Given the description of an element on the screen output the (x, y) to click on. 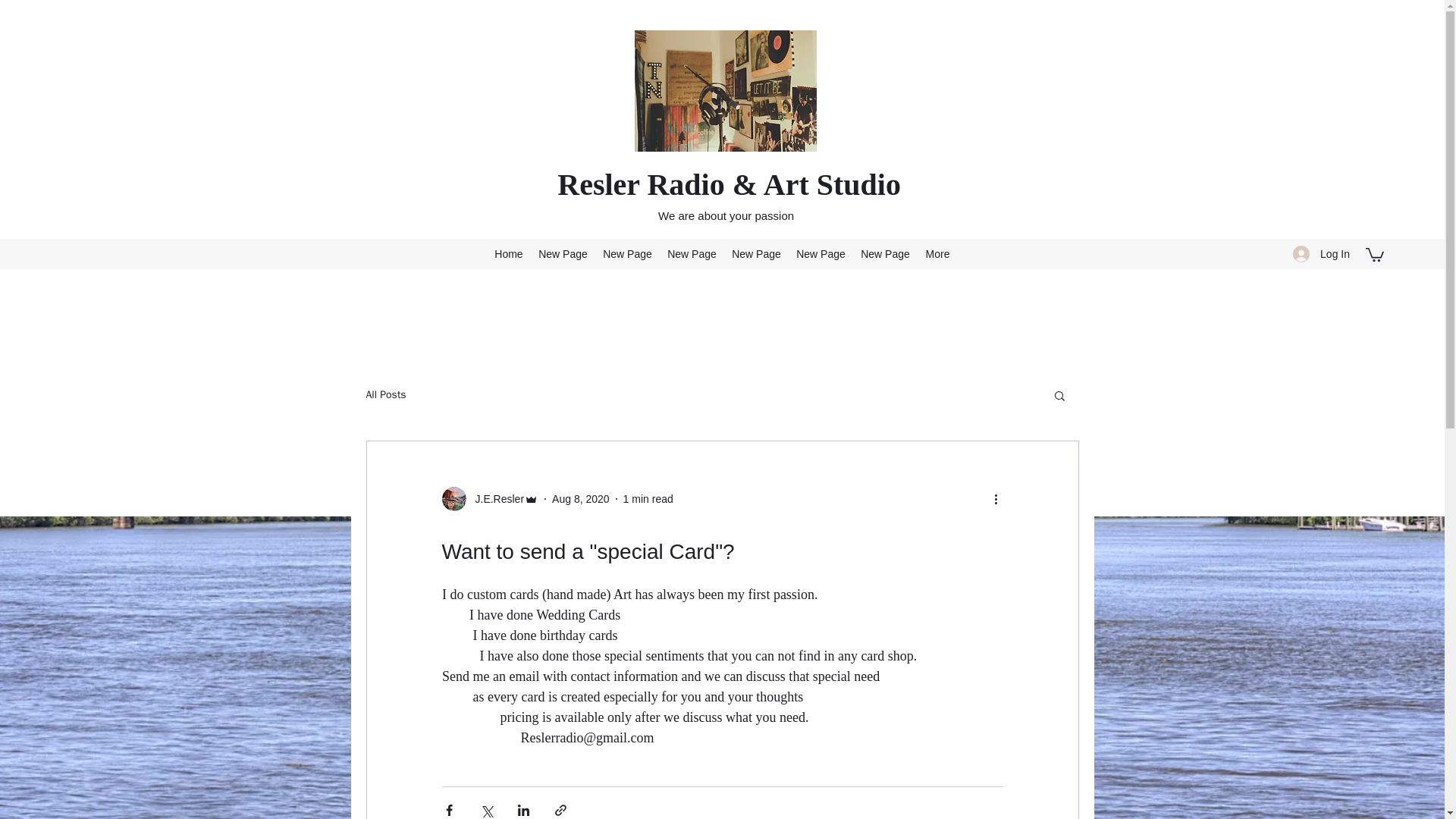
Log In (1320, 254)
New Page (563, 253)
J.E.Resler (489, 498)
New Page (627, 253)
1 min read (647, 499)
All Posts (385, 395)
Aug 8, 2020 (580, 499)
New Page (756, 253)
New Page (691, 253)
New Page (885, 253)
New Page (821, 253)
Home (508, 253)
J.E.Resler (494, 498)
